Given the description of an element on the screen output the (x, y) to click on. 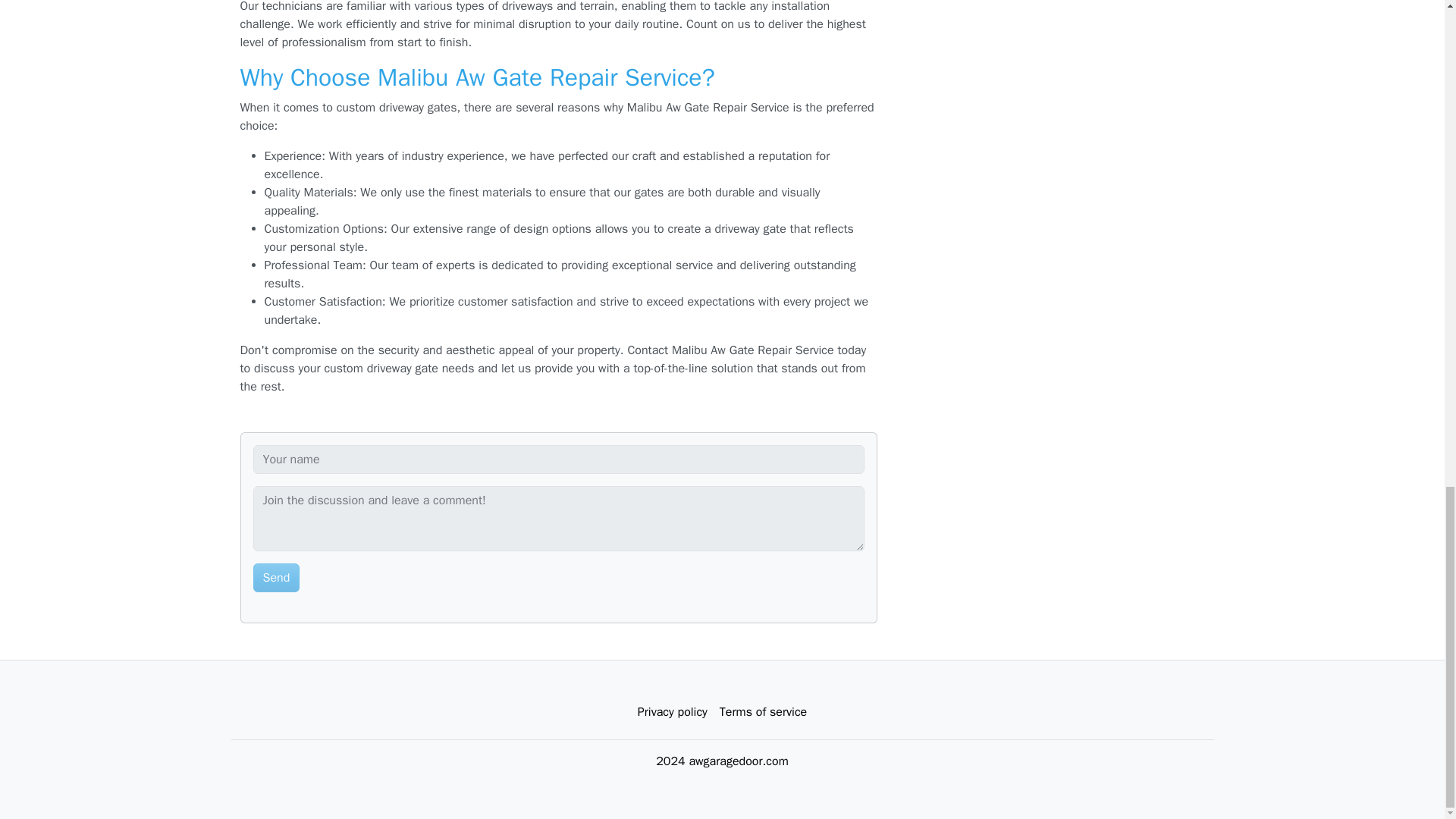
Terms of service (762, 711)
Privacy policy (672, 711)
Send (276, 577)
Send (276, 577)
